Given the description of an element on the screen output the (x, y) to click on. 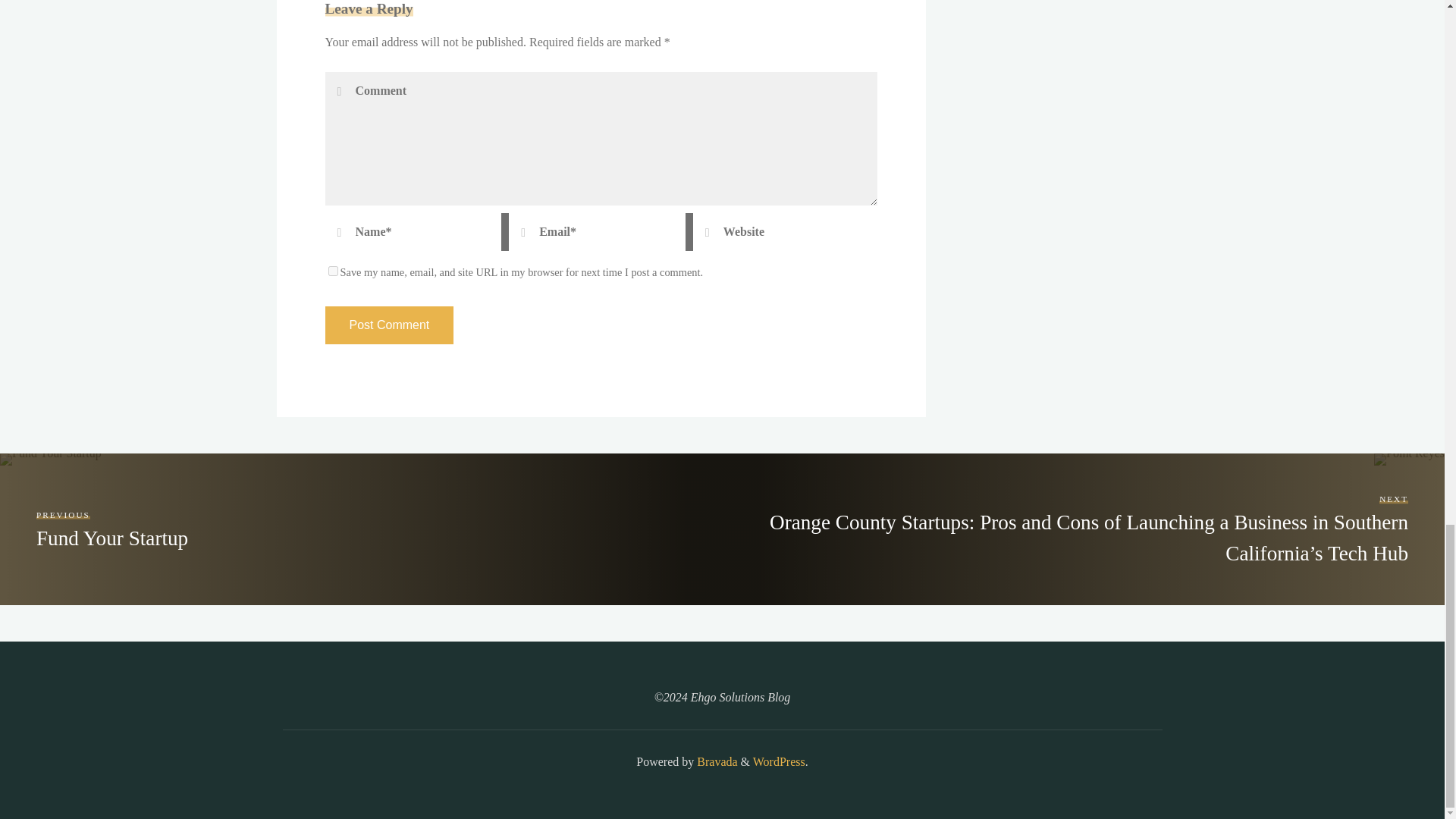
Bravada (715, 761)
WordPress (778, 761)
yes (332, 271)
Bravada WordPress Theme by Cryout Creations (715, 761)
Post Comment (388, 324)
Post Comment (388, 324)
Semantic Personal Publishing Platform (778, 761)
